Given the description of an element on the screen output the (x, y) to click on. 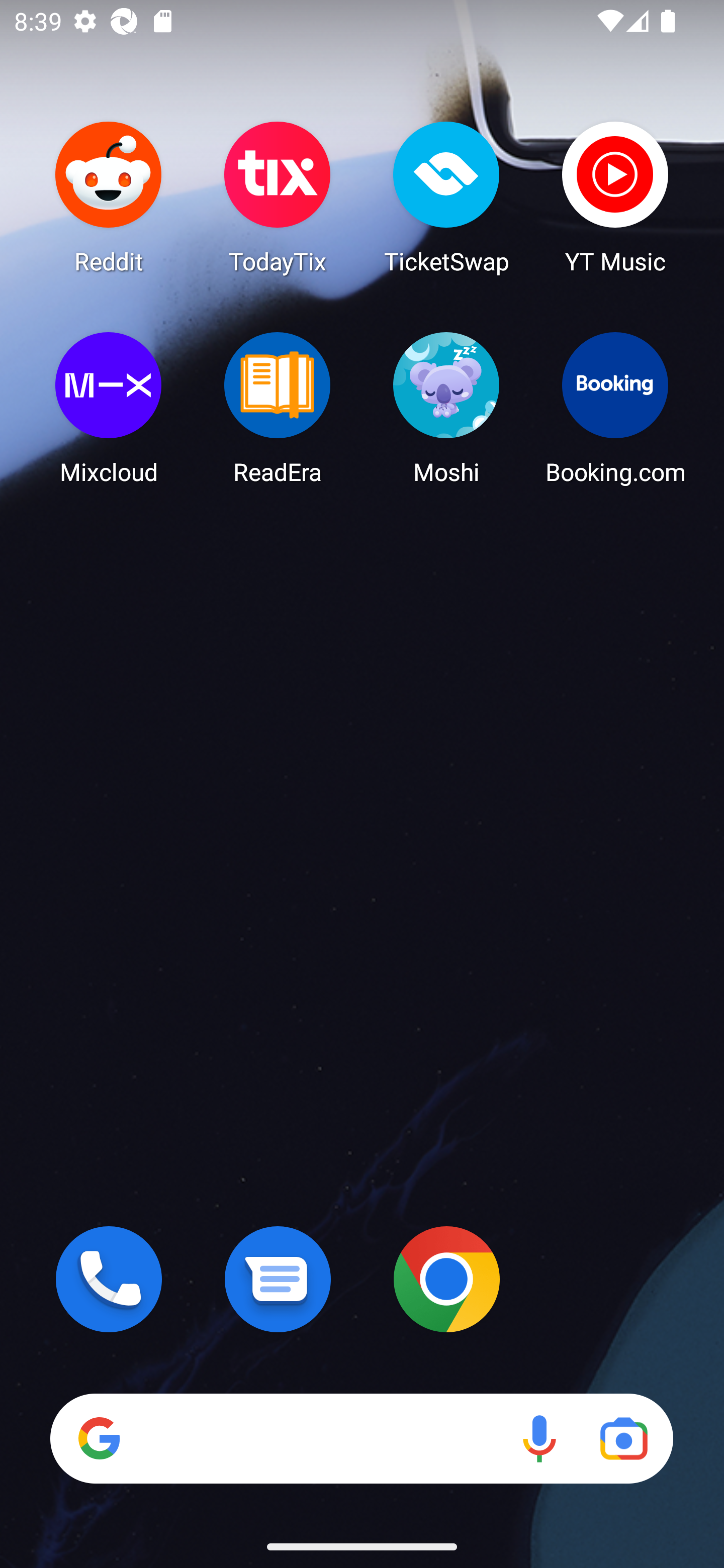
Reddit (108, 196)
TodayTix (277, 196)
TicketSwap (445, 196)
YT Music (615, 196)
Mixcloud (108, 407)
ReadEra (277, 407)
Moshi (445, 407)
Booking.com (615, 407)
Phone (108, 1279)
Messages (277, 1279)
Chrome (446, 1279)
Search Voice search Google Lens (361, 1438)
Voice search (539, 1438)
Google Lens (623, 1438)
